Given the description of an element on the screen output the (x, y) to click on. 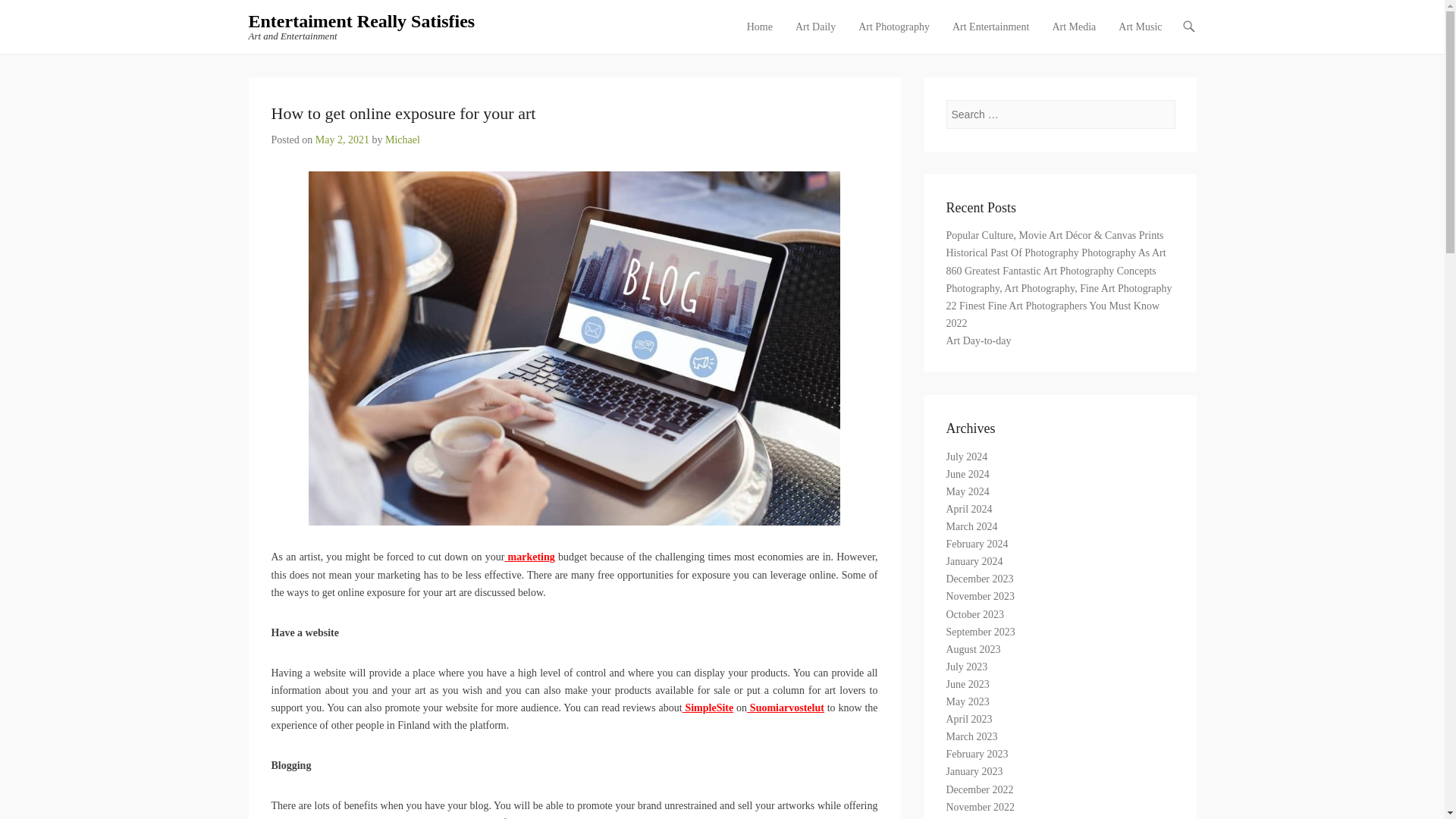
Skip to content (771, 27)
9:47 am (342, 139)
Art Daily (815, 35)
May 2024 (968, 491)
Art Media (1073, 35)
May 2, 2021 (342, 139)
Suomiarvostelut (785, 707)
Entertaiment Really Satisfies (362, 21)
Search (32, 17)
SimpleSite (707, 707)
April 2024 (969, 509)
Art Day-to-day (978, 340)
View all posts by Michael (402, 139)
Home (759, 35)
